Given the description of an element on the screen output the (x, y) to click on. 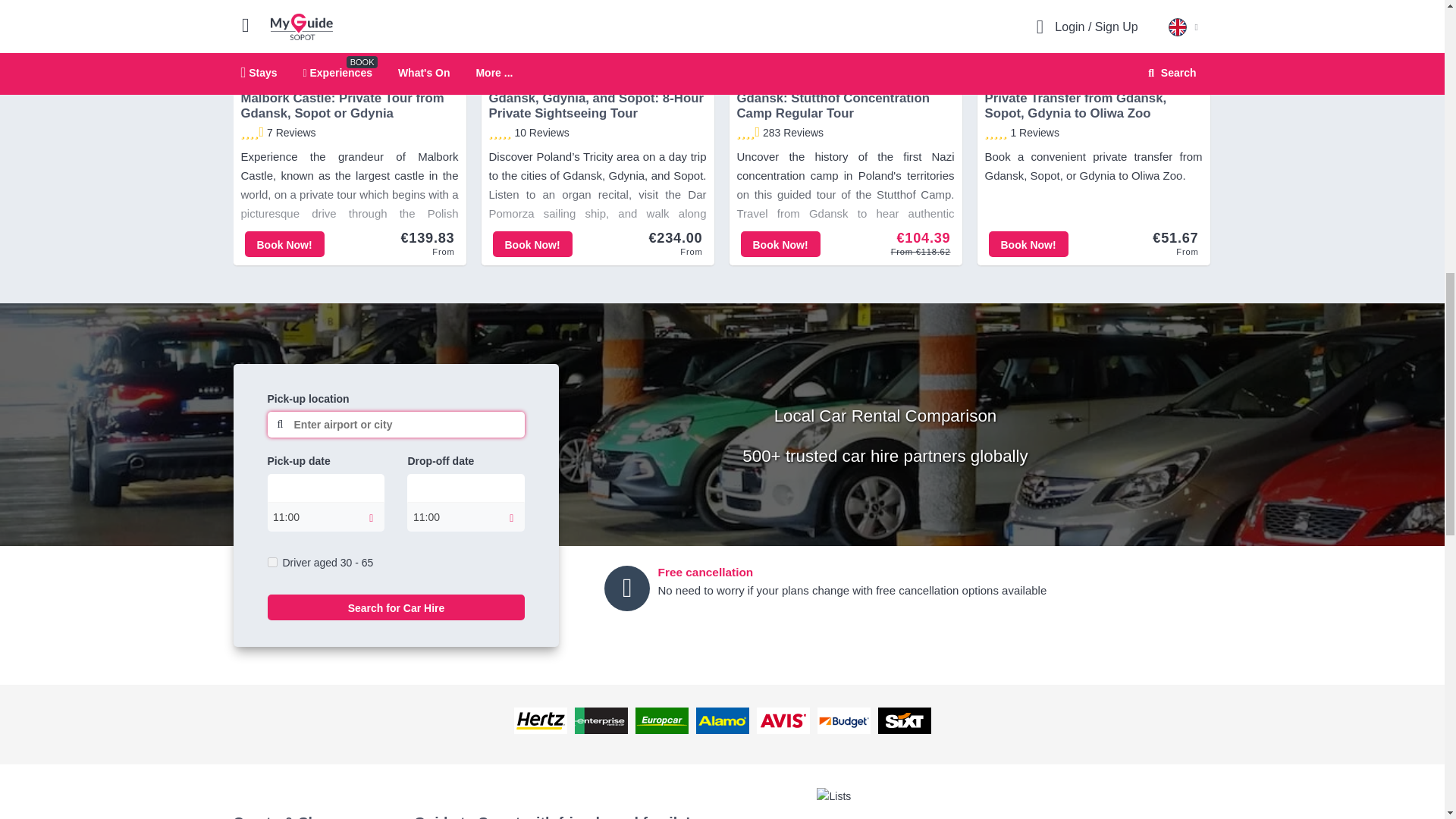
on (271, 562)
